Given the description of an element on the screen output the (x, y) to click on. 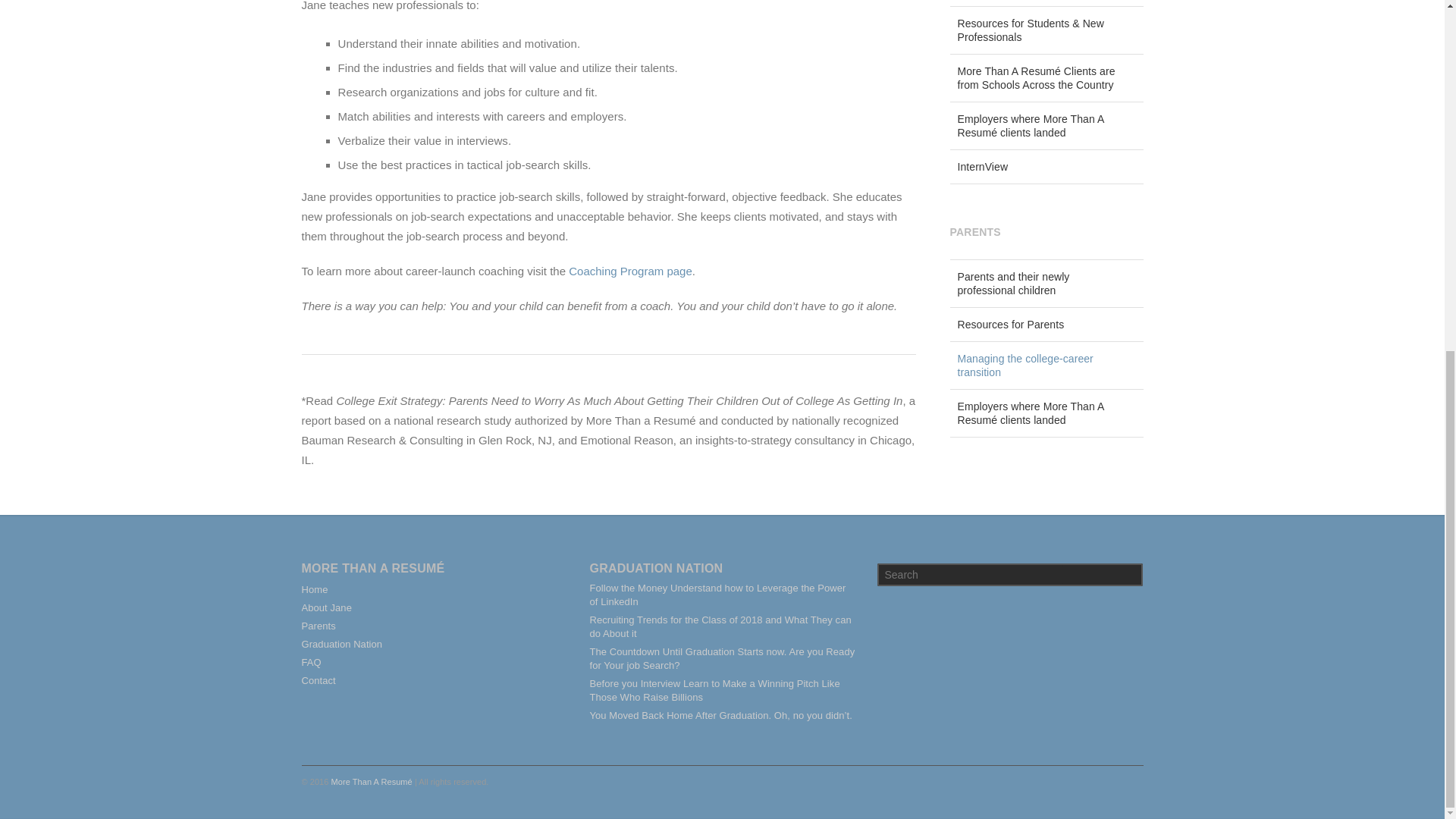
RSS (1127, 780)
E-mail (1096, 780)
LinkedIn (1064, 780)
Coaching Program page (631, 270)
InternView (1045, 166)
Landing Your First Best-fit Job (1045, 2)
Facebook (1000, 780)
Twitter (1032, 780)
